Given the description of an element on the screen output the (x, y) to click on. 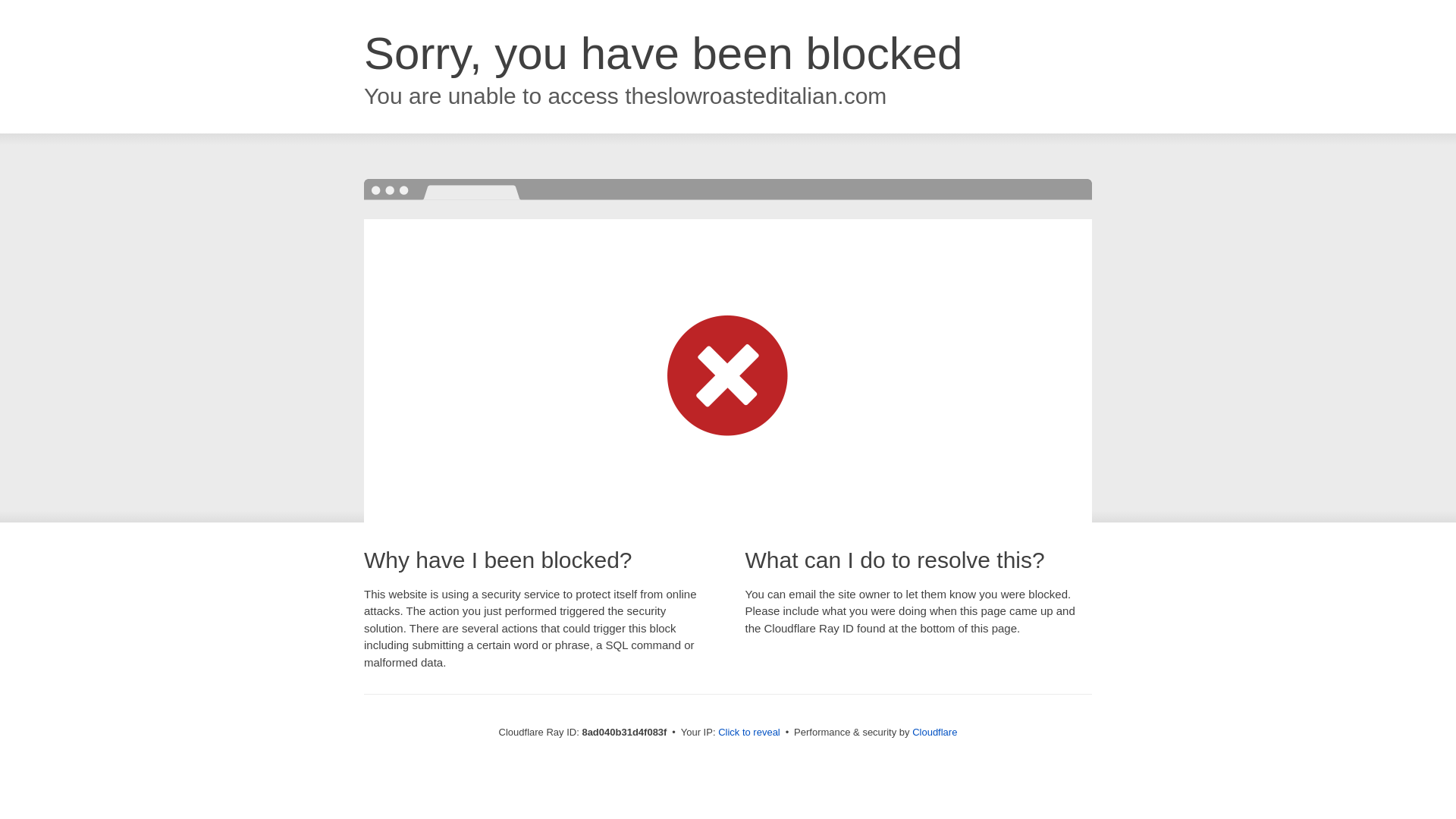
Click to reveal (748, 732)
Cloudflare (934, 731)
